Given the description of an element on the screen output the (x, y) to click on. 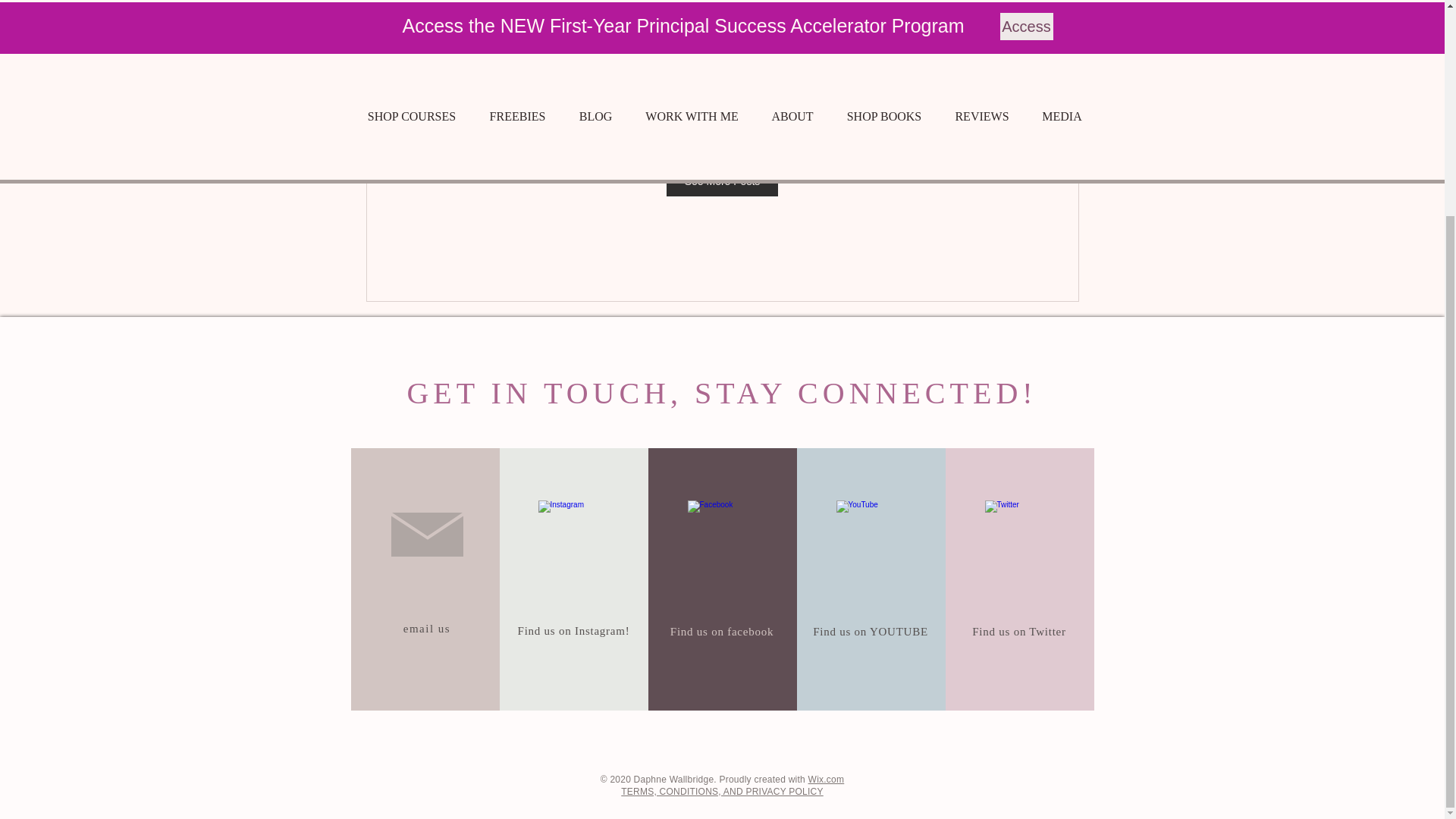
See More Posts (722, 181)
Wix.com (826, 778)
TERMS, CONDITIONS, AND PRIVACY POLICY (721, 791)
